Given the description of an element on the screen output the (x, y) to click on. 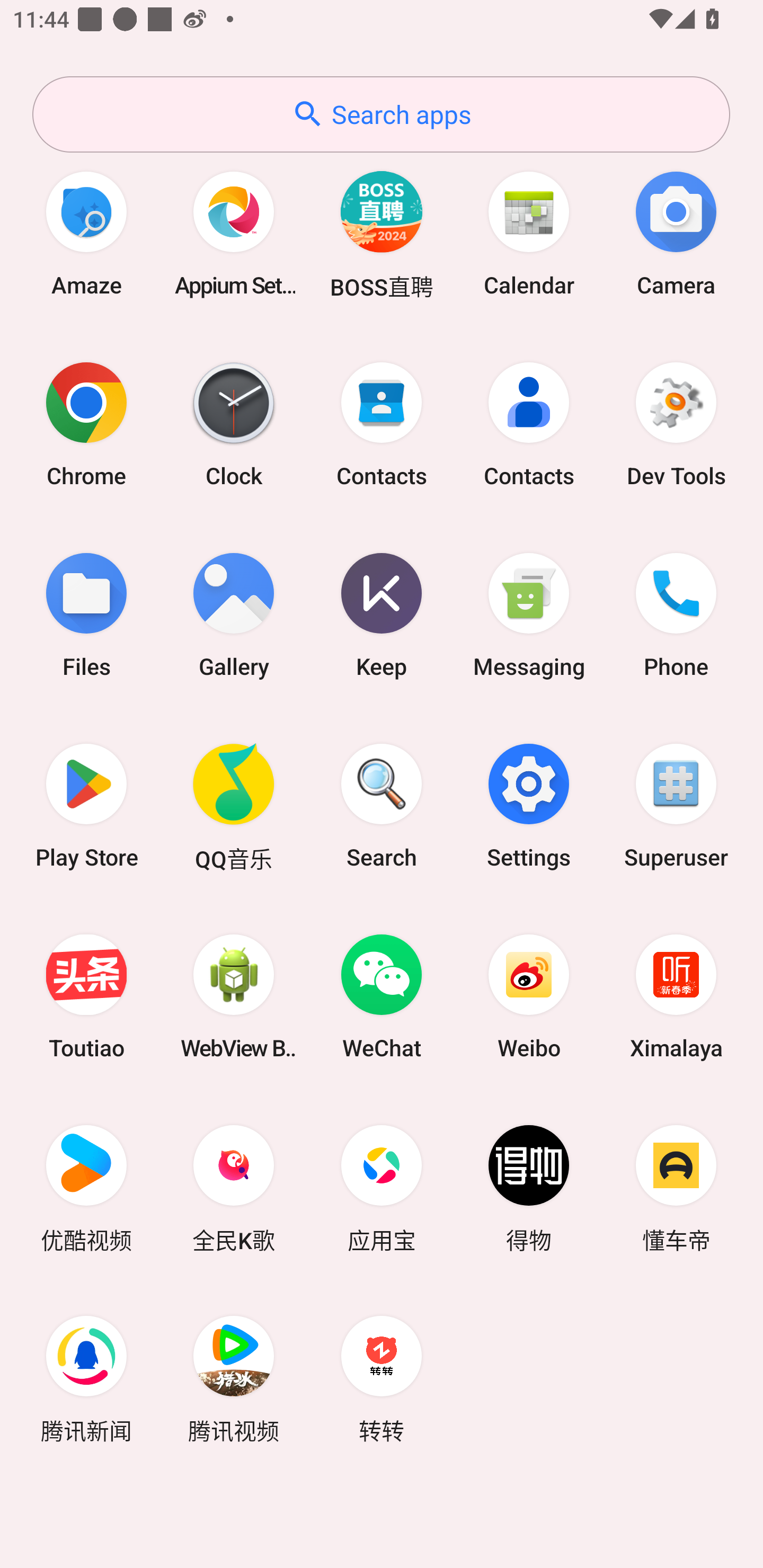
  Search apps (381, 114)
Amaze (86, 233)
Appium Settings (233, 233)
BOSS直聘 (381, 233)
Calendar (528, 233)
Camera (676, 233)
Chrome (86, 424)
Clock (233, 424)
Contacts (381, 424)
Contacts (528, 424)
Dev Tools (676, 424)
Files (86, 614)
Gallery (233, 614)
Keep (381, 614)
Messaging (528, 614)
Phone (676, 614)
Play Store (86, 805)
QQ音乐 (233, 805)
Search (381, 805)
Settings (528, 805)
Superuser (676, 805)
Toutiao (86, 996)
WebView Browser Tester (233, 996)
WeChat (381, 996)
Weibo (528, 996)
Ximalaya (676, 996)
优酷视频 (86, 1186)
全民K歌 (233, 1186)
应用宝 (381, 1186)
得物 (528, 1186)
懂车帝 (676, 1186)
腾讯新闻 (86, 1377)
腾讯视频 (233, 1377)
转转 (381, 1377)
